Given the description of an element on the screen output the (x, y) to click on. 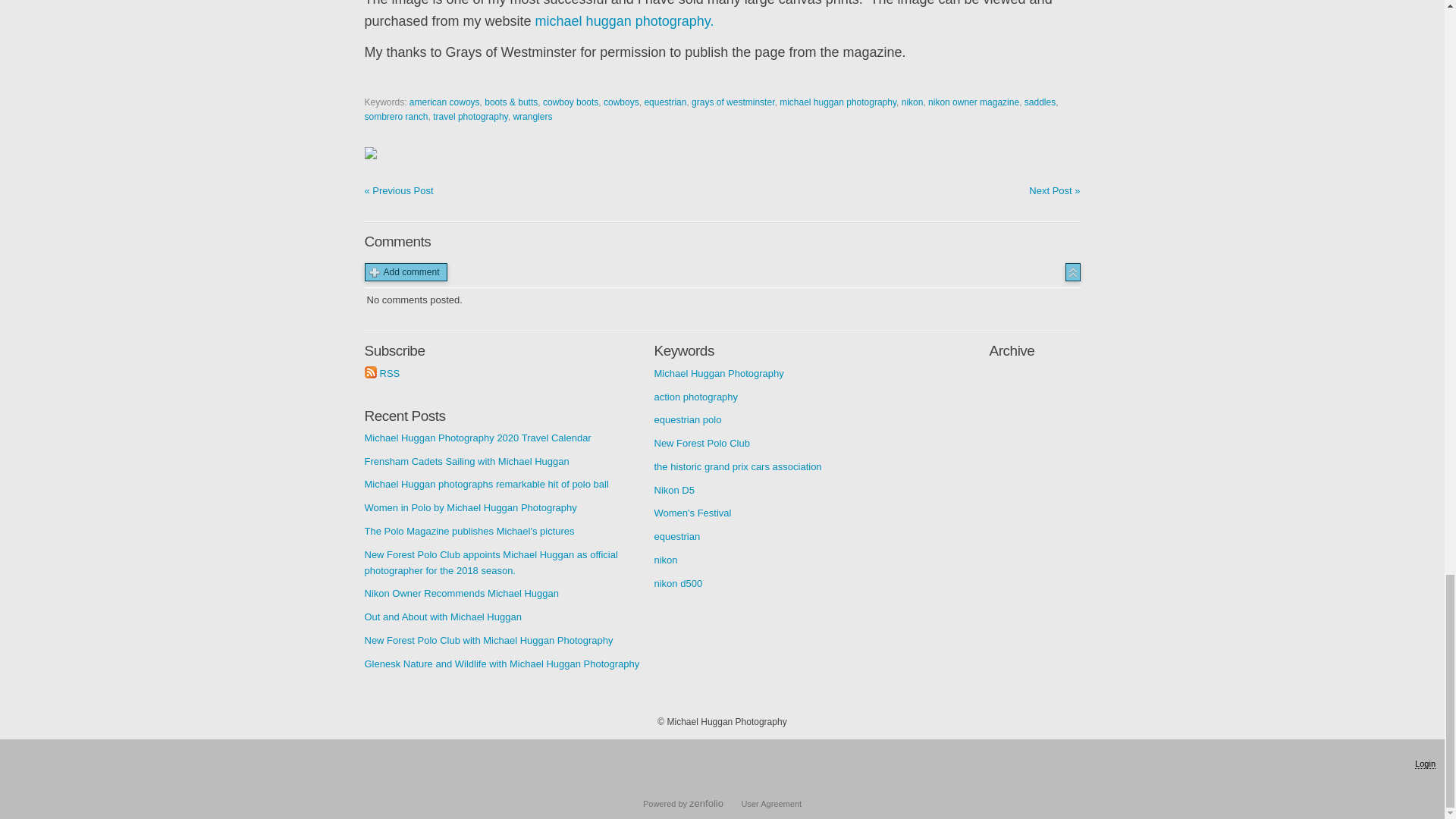
saddles (1040, 102)
grays of westminster (732, 102)
nikon owner magazine (973, 102)
Go to the top of the page (1072, 271)
cowboy boots (570, 102)
cowboys (621, 102)
nikon (912, 102)
american cowoys (444, 102)
michael huggan photography. (624, 20)
michael huggan photography (837, 102)
equestrian (664, 102)
